Given the description of an element on the screen output the (x, y) to click on. 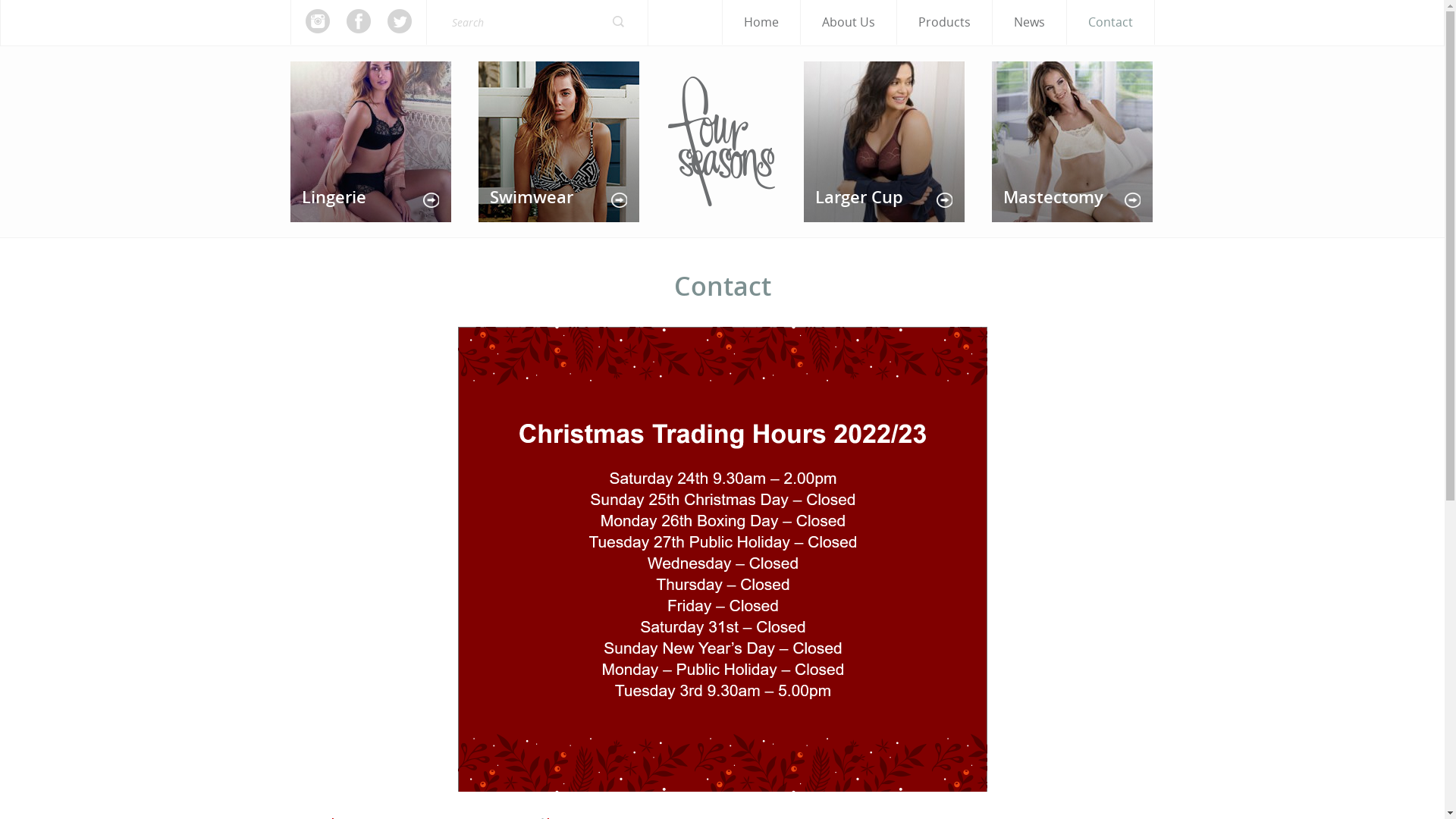
Larger Cup Element type: text (883, 141)
News Element type: text (1028, 22)
Contact Element type: text (1109, 22)
Lingerie Element type: text (369, 141)
Products Element type: text (943, 22)
Mastectomy Element type: text (1071, 141)
About Us Element type: text (848, 22)
Home Element type: text (760, 22)
Four Seasons Lingerie and Swim Element type: hover (720, 139)
Swimwear Element type: text (557, 141)
